Given the description of an element on the screen output the (x, y) to click on. 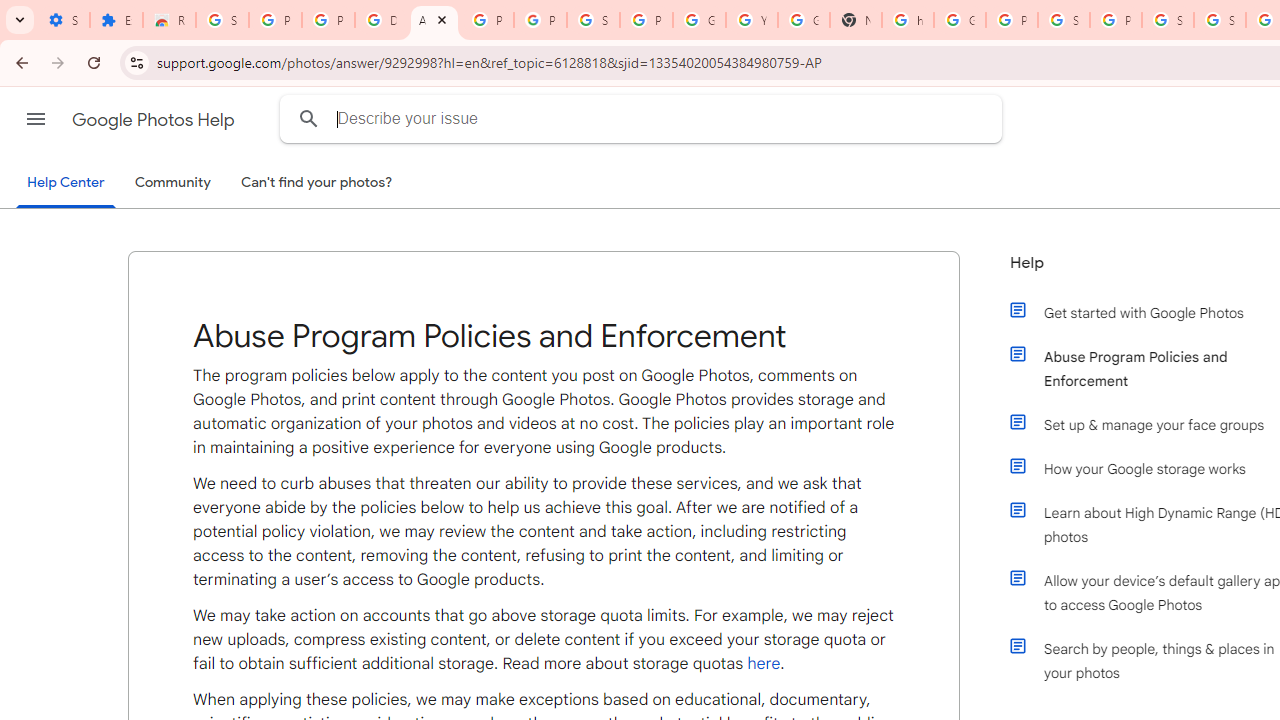
Sign in - Google Accounts (593, 20)
Community (171, 183)
Search Help Center (309, 118)
New Tab (855, 20)
